Given the description of an element on the screen output the (x, y) to click on. 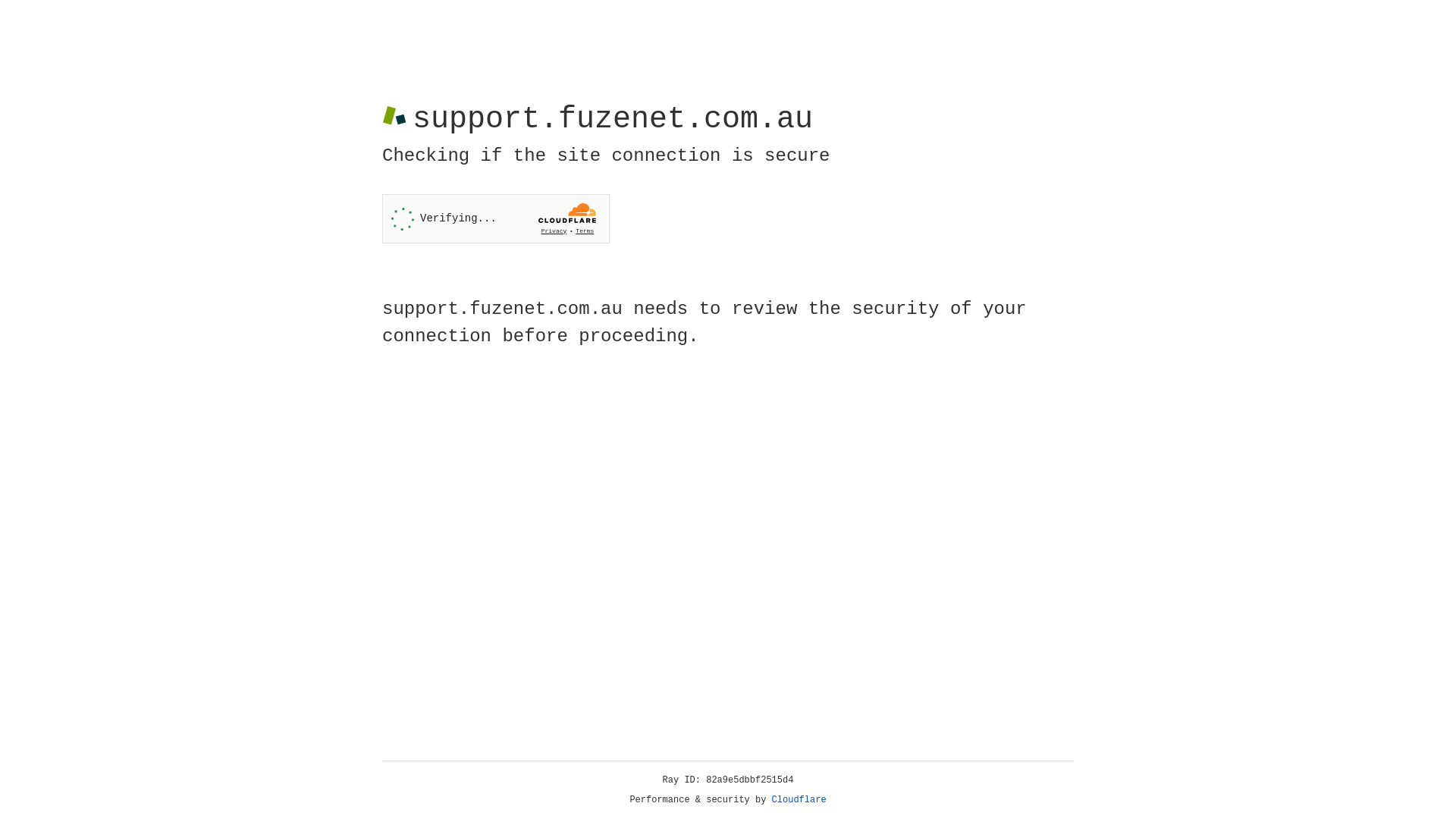
Widget containing a Cloudflare security challenge Element type: hover (495, 218)
Cloudflare Element type: text (798, 799)
